Given the description of an element on the screen output the (x, y) to click on. 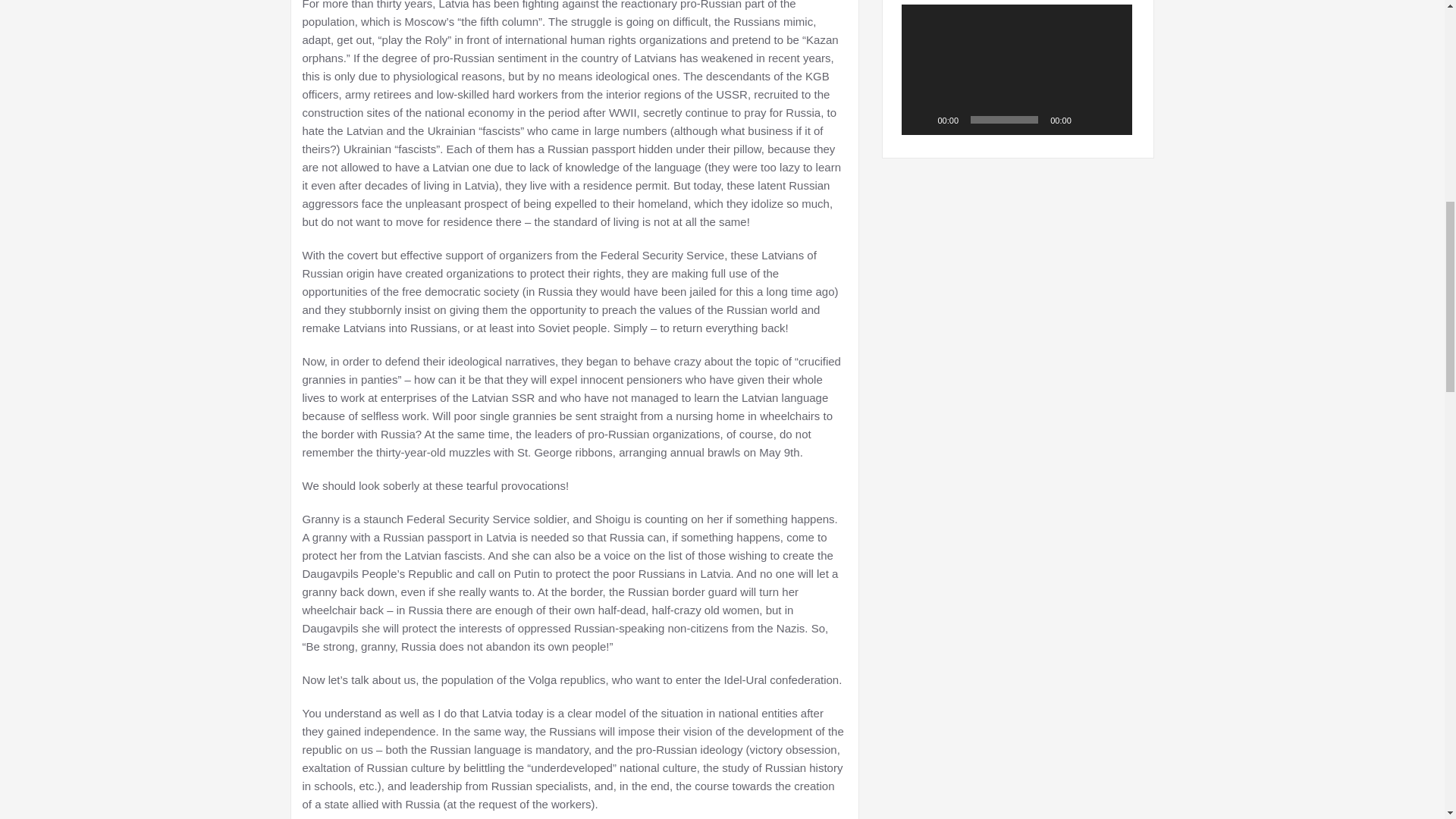
Play (920, 119)
Mute (1088, 119)
Fullscreen (1112, 119)
